Given the description of an element on the screen output the (x, y) to click on. 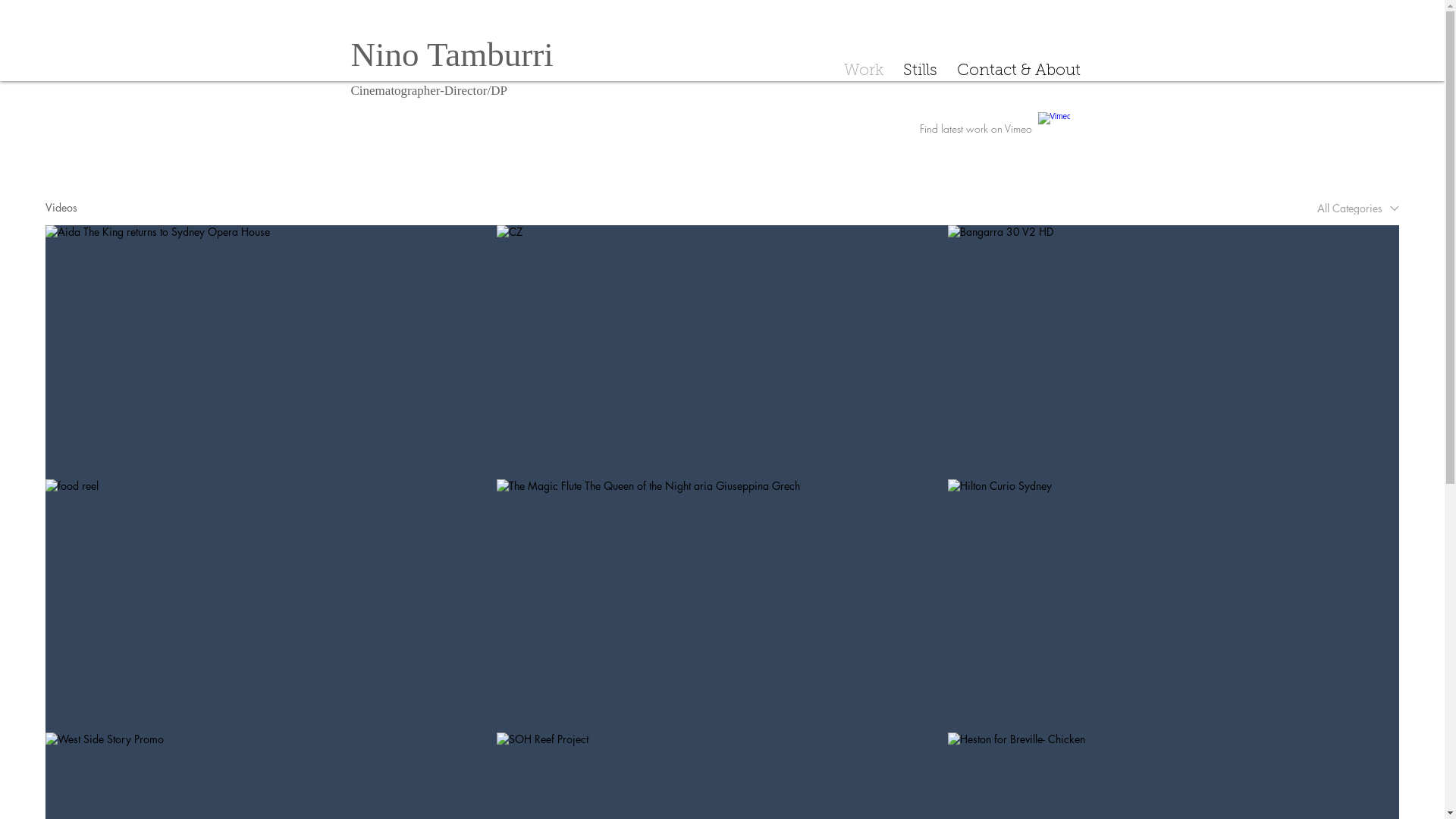
Stills Element type: text (920, 67)
Contact & About Element type: text (1017, 67)
Work Element type: text (863, 67)
